Given the description of an element on the screen output the (x, y) to click on. 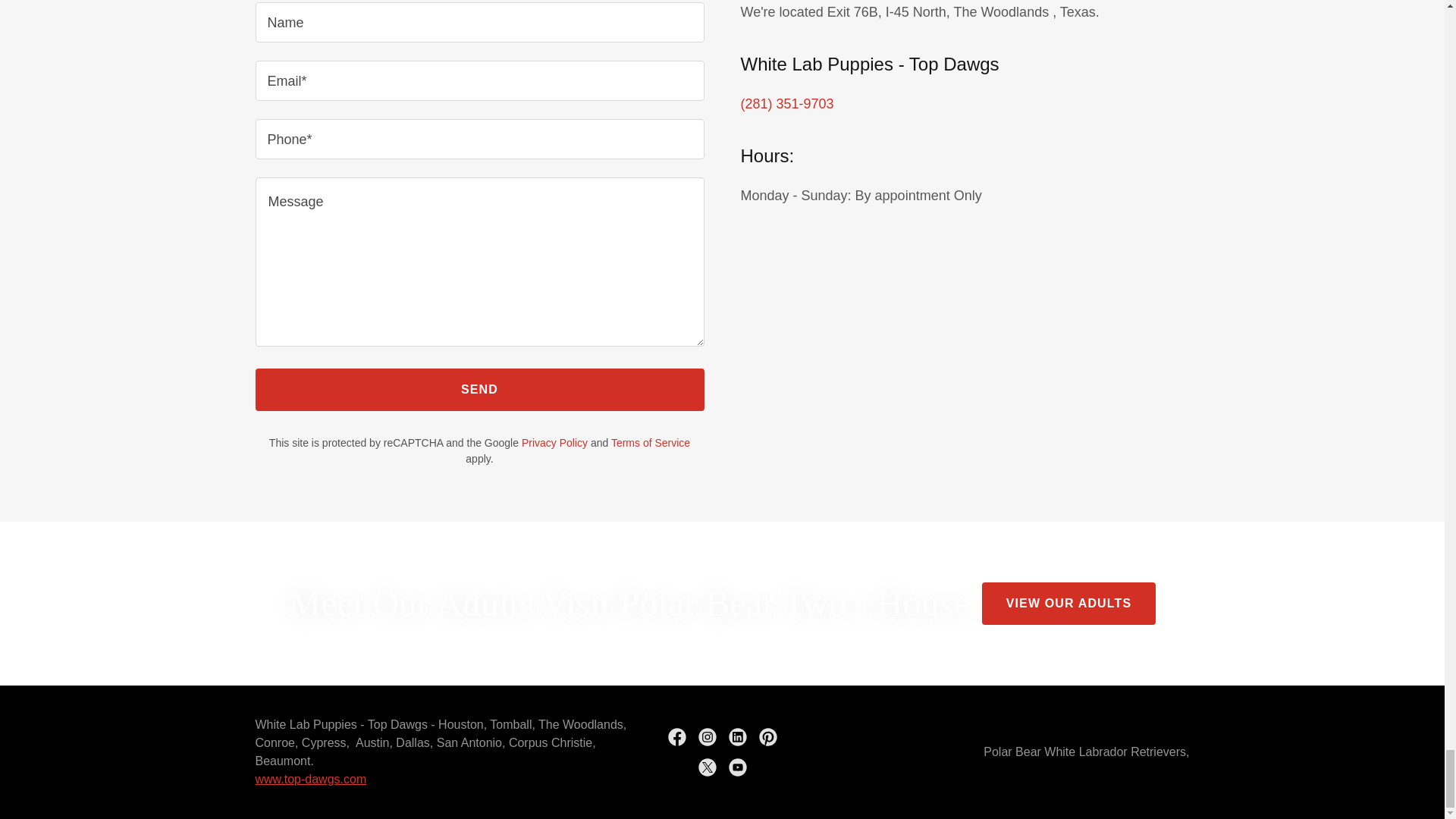
Privacy Policy (554, 442)
www.top-dawgs.com (310, 779)
Terms of Service (650, 442)
SEND (478, 389)
VIEW OUR ADULTS (1068, 603)
